Given the description of an element on the screen output the (x, y) to click on. 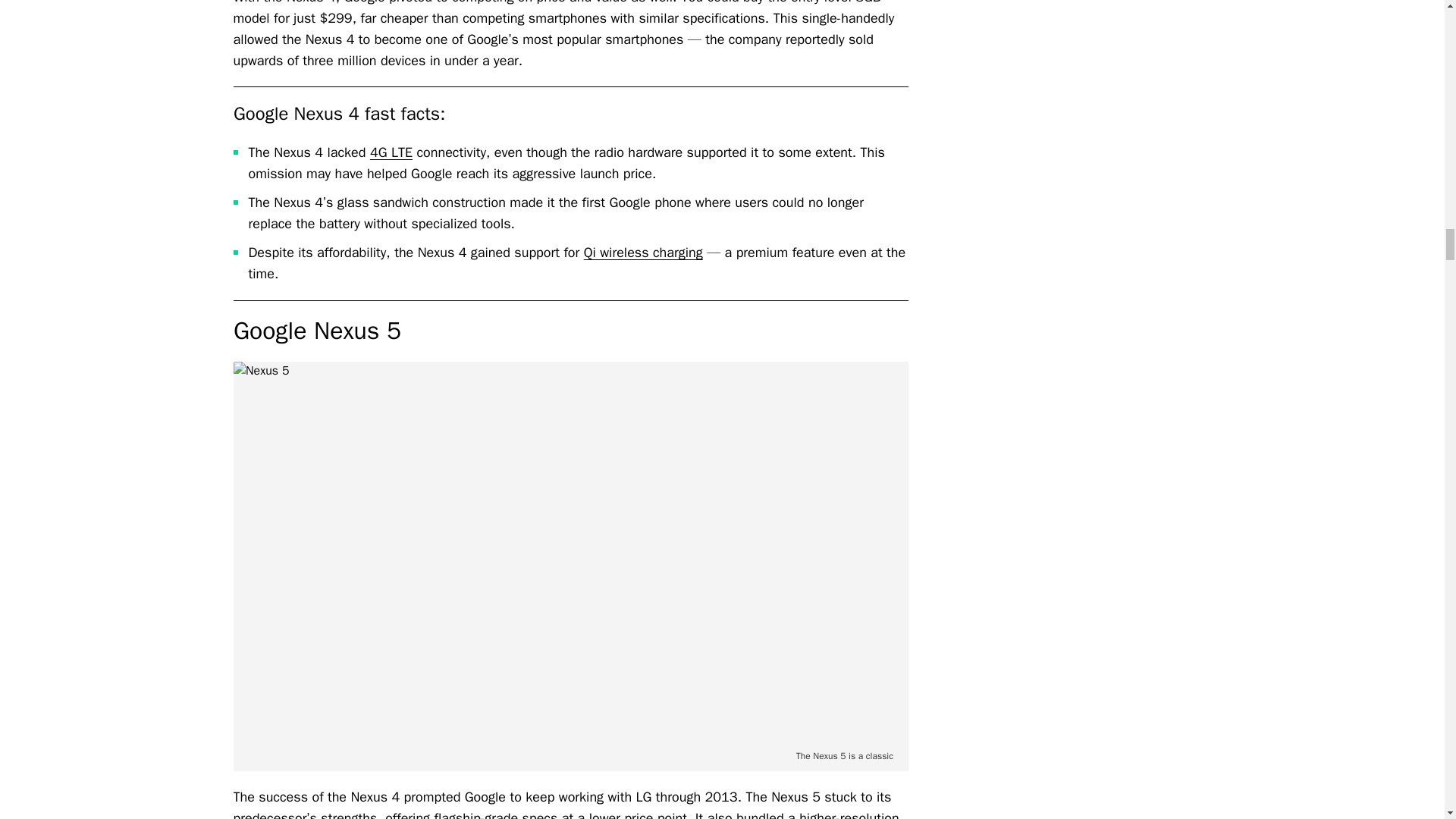
4G LTE (390, 152)
Qi wireless charging (643, 252)
